Given the description of an element on the screen output the (x, y) to click on. 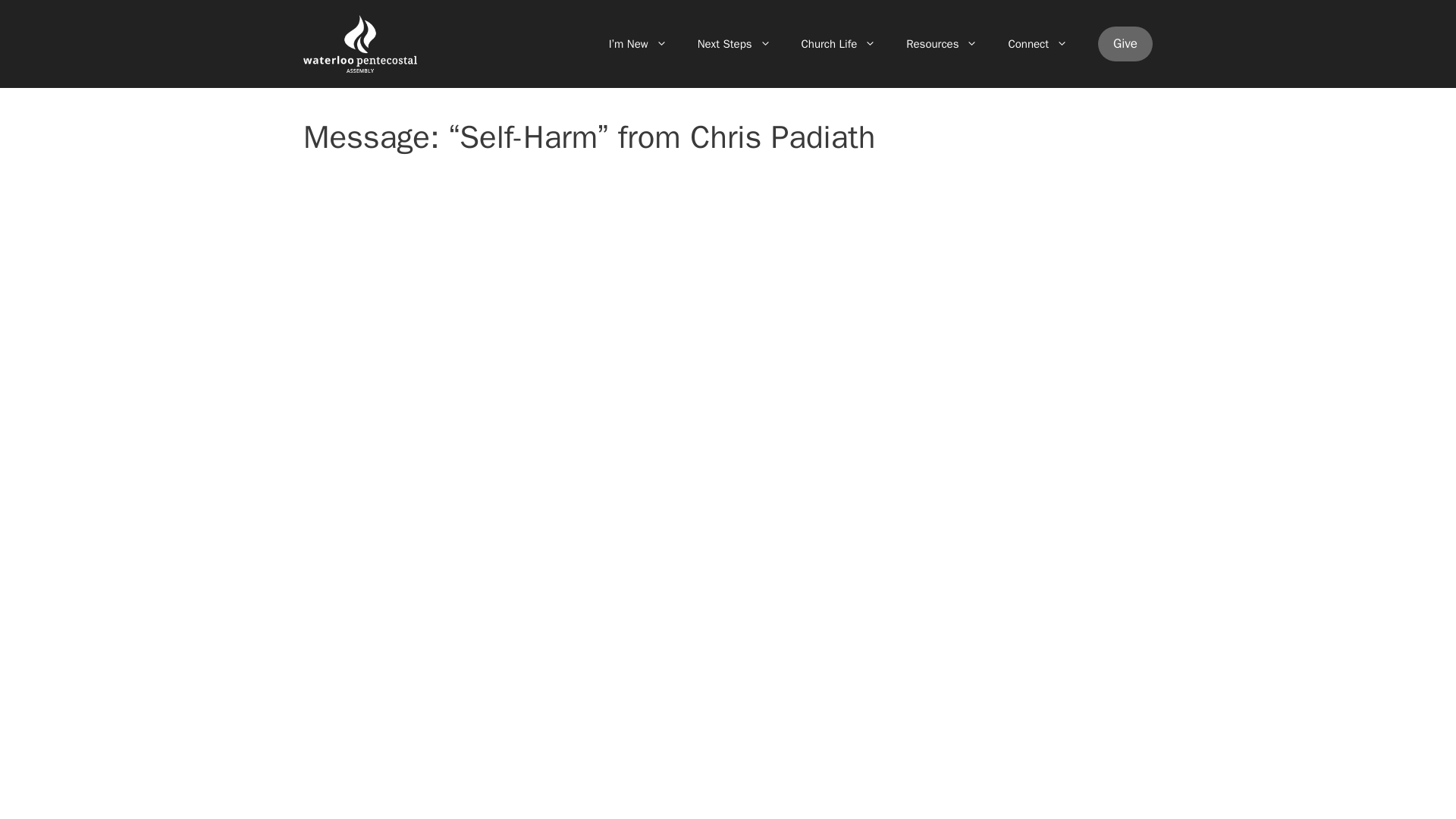
Give (1125, 43)
Church Life (838, 43)
Next Steps (734, 43)
Connect (1037, 43)
Resources (941, 43)
